Given the description of an element on the screen output the (x, y) to click on. 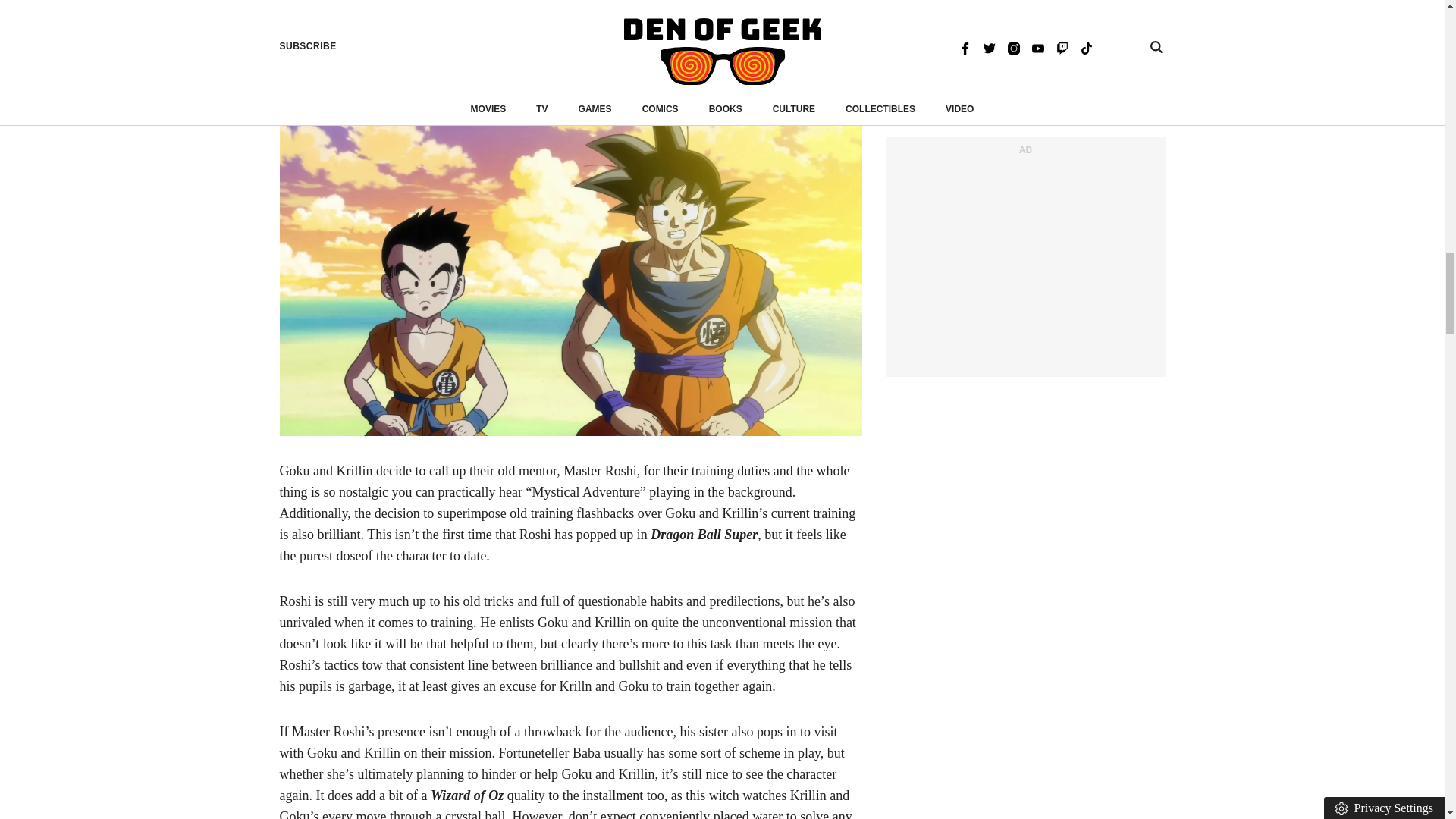
Subscribe (829, 35)
